Given the description of an element on the screen output the (x, y) to click on. 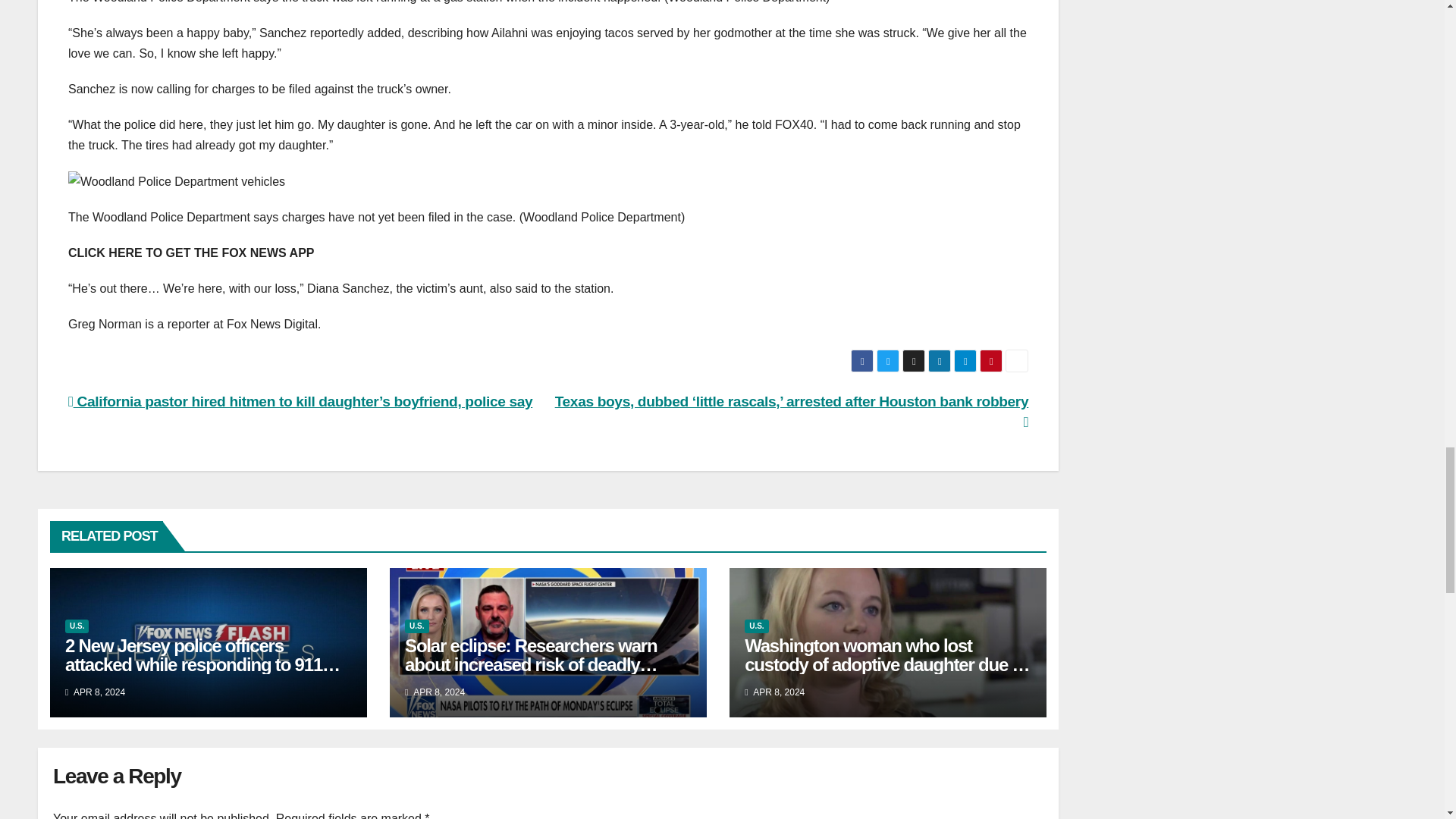
U.S. (416, 626)
U.S. (756, 626)
U.S. (76, 626)
